Given the description of an element on the screen output the (x, y) to click on. 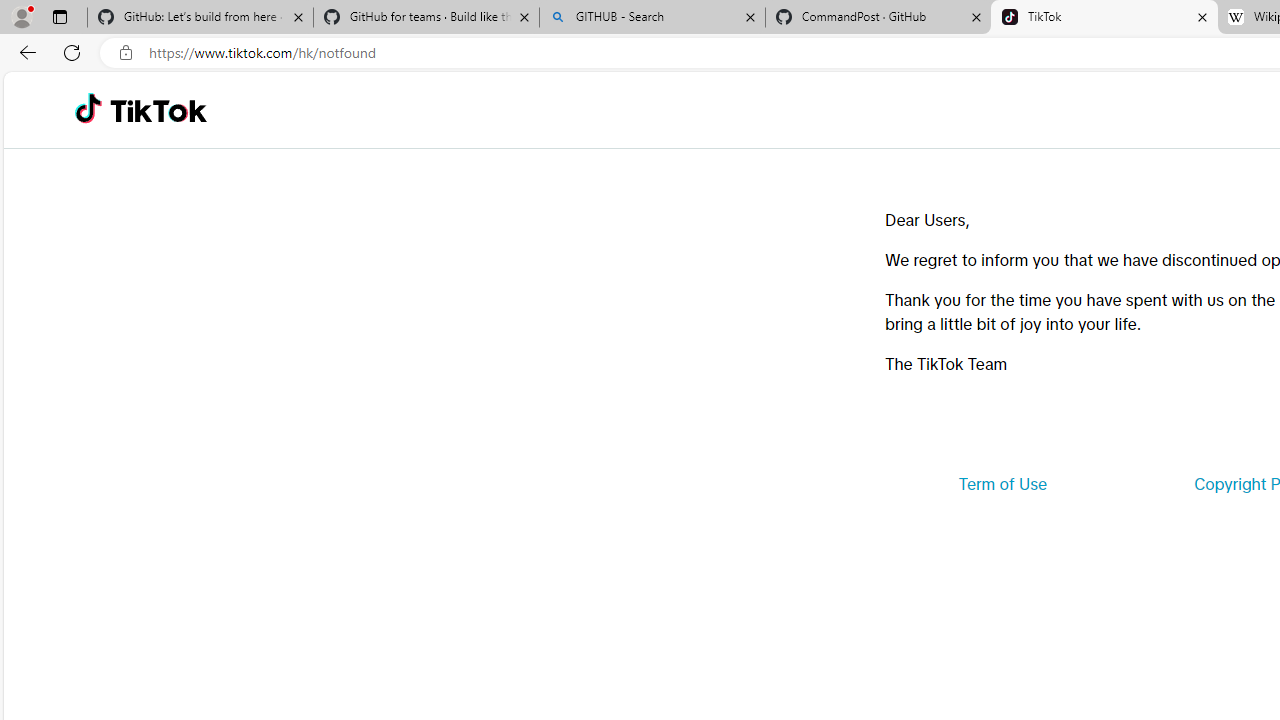
Term of Use (1002, 484)
TikTok (1104, 17)
TikTok (158, 110)
GITHUB - Search (652, 17)
